Given the description of an element on the screen output the (x, y) to click on. 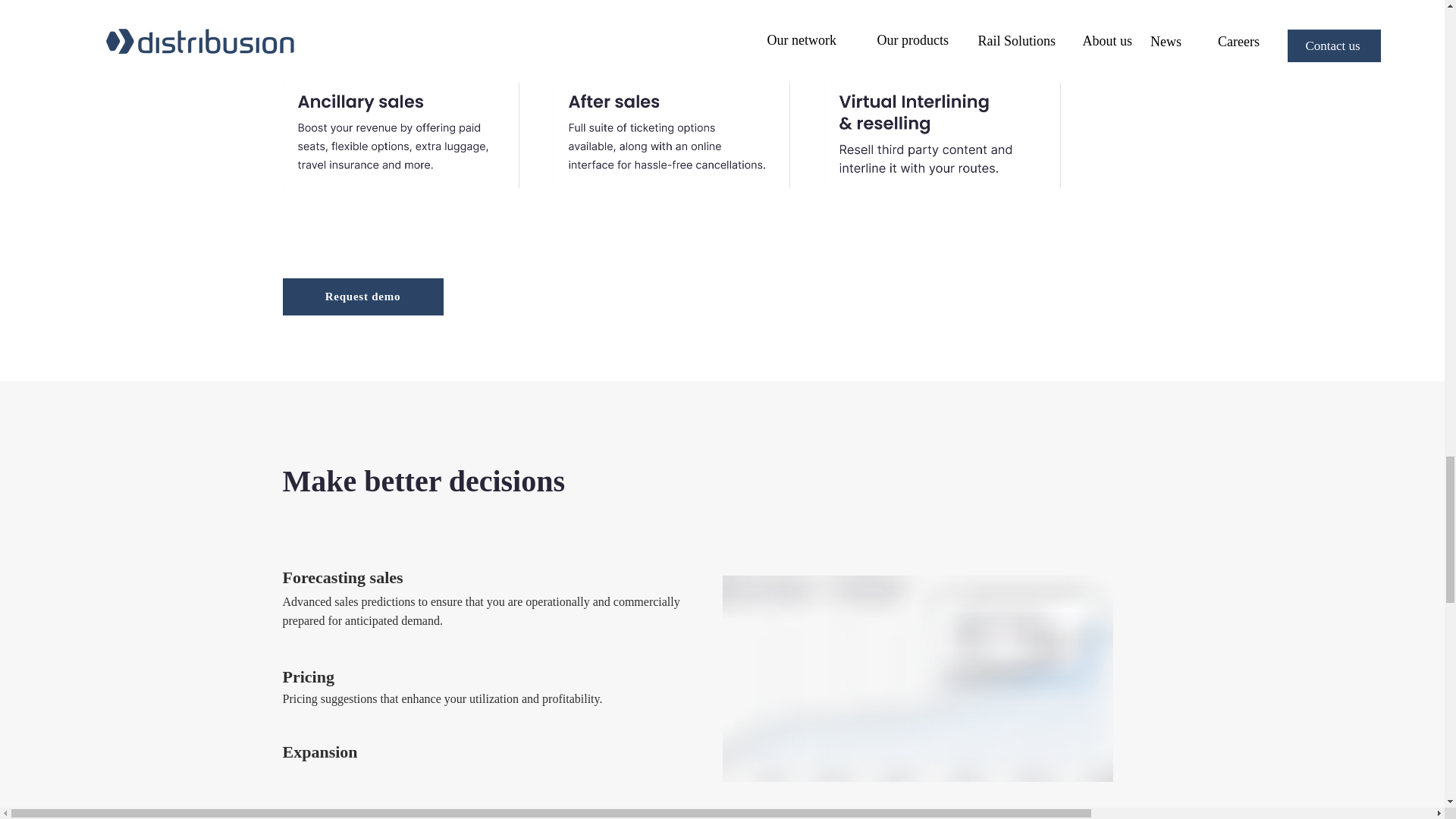
Request demo (362, 296)
